Given the description of an element on the screen output the (x, y) to click on. 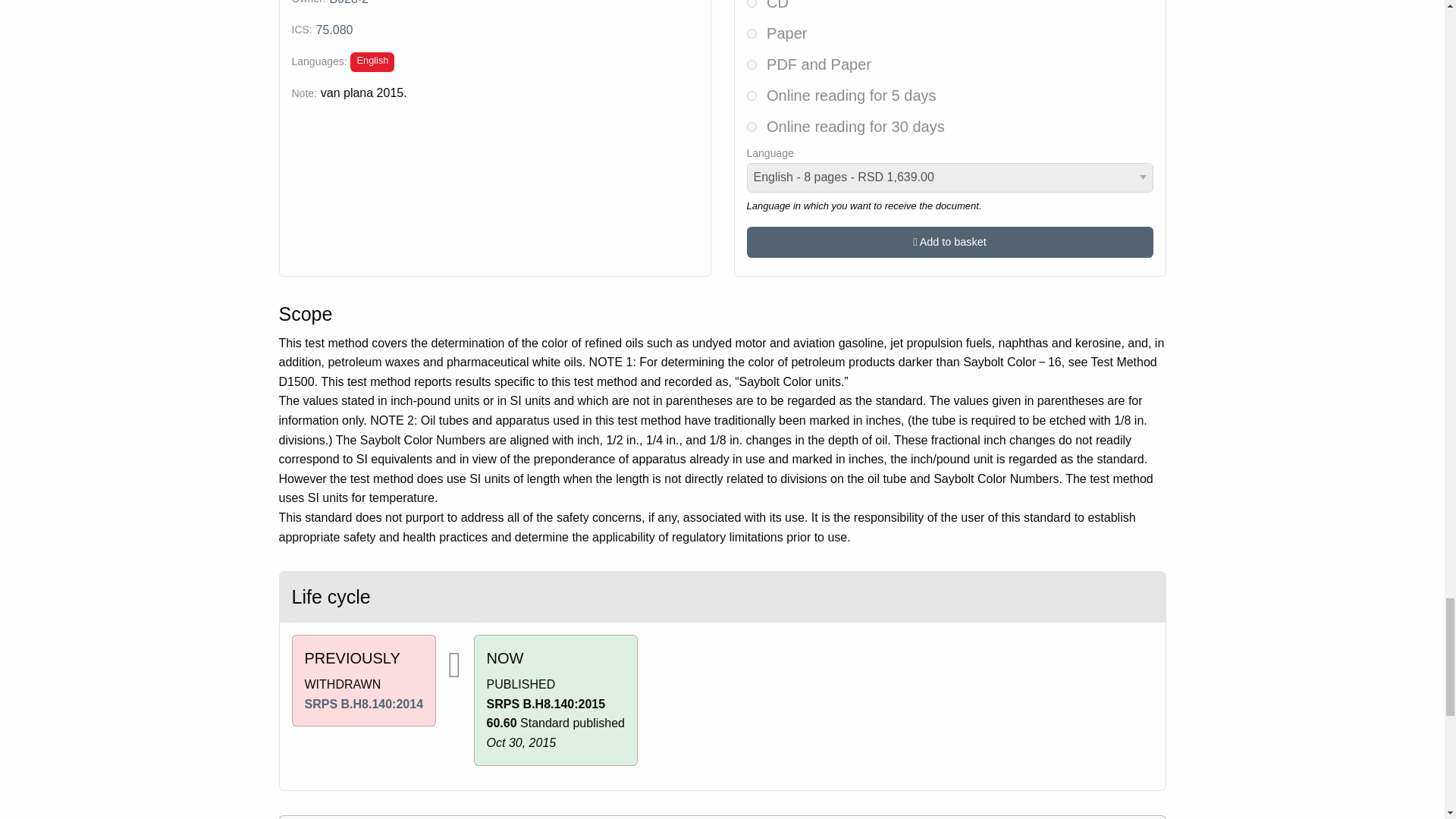
2885 (750, 3)
1269 (750, 64)
2876 (750, 95)
2877 (750, 126)
1268 (750, 33)
